Given the description of an element on the screen output the (x, y) to click on. 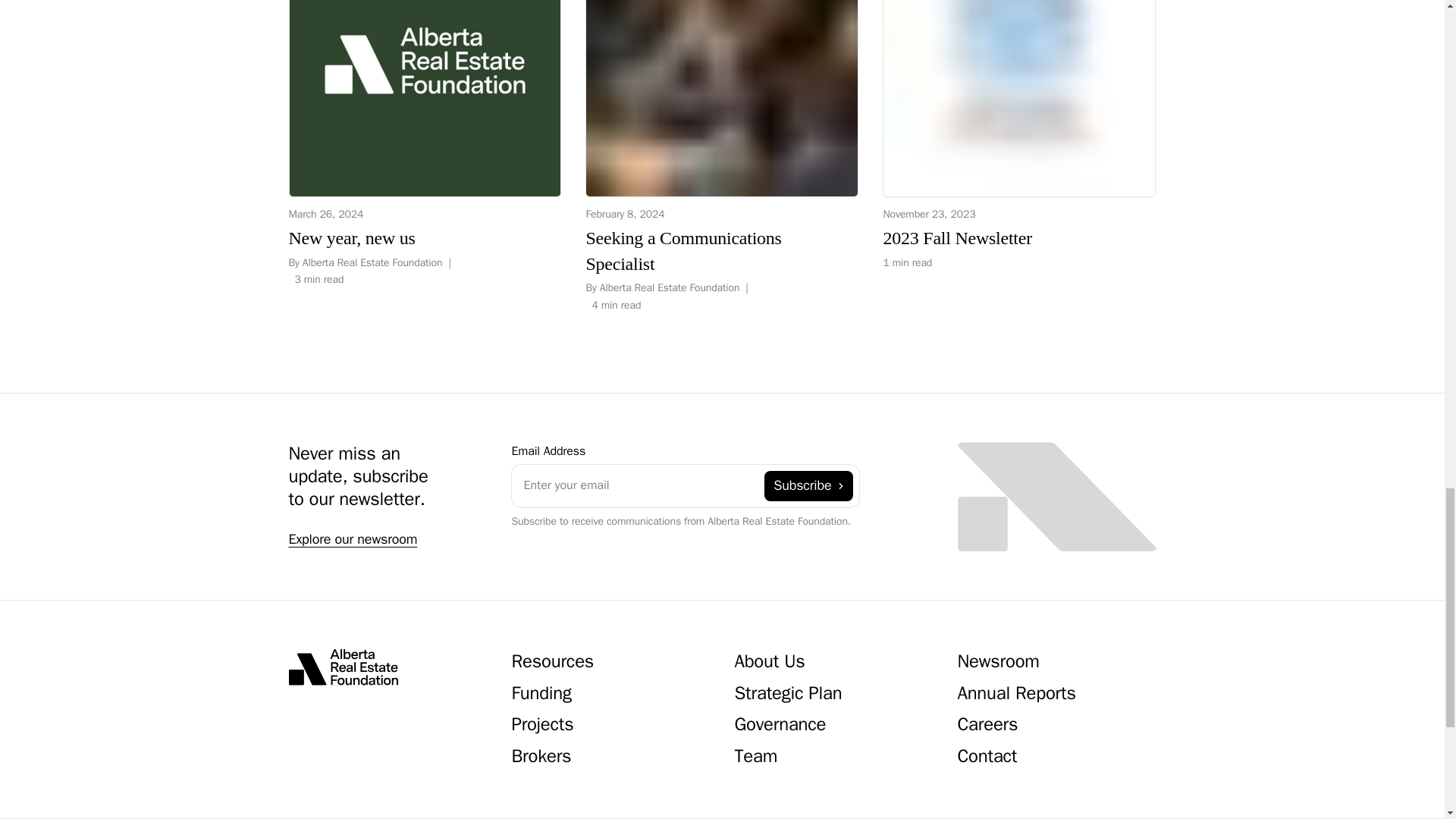
Strategic Plan (787, 694)
Annual Reports (1015, 694)
Explore our newsroom (352, 539)
Careers (986, 726)
Resources (552, 663)
Funding (540, 694)
About Us (769, 663)
Contact (986, 758)
Projects (542, 726)
Brokers (540, 758)
Newsroom (997, 663)
Governance (779, 726)
Team (755, 758)
Subscribe (1019, 135)
